Given the description of an element on the screen output the (x, y) to click on. 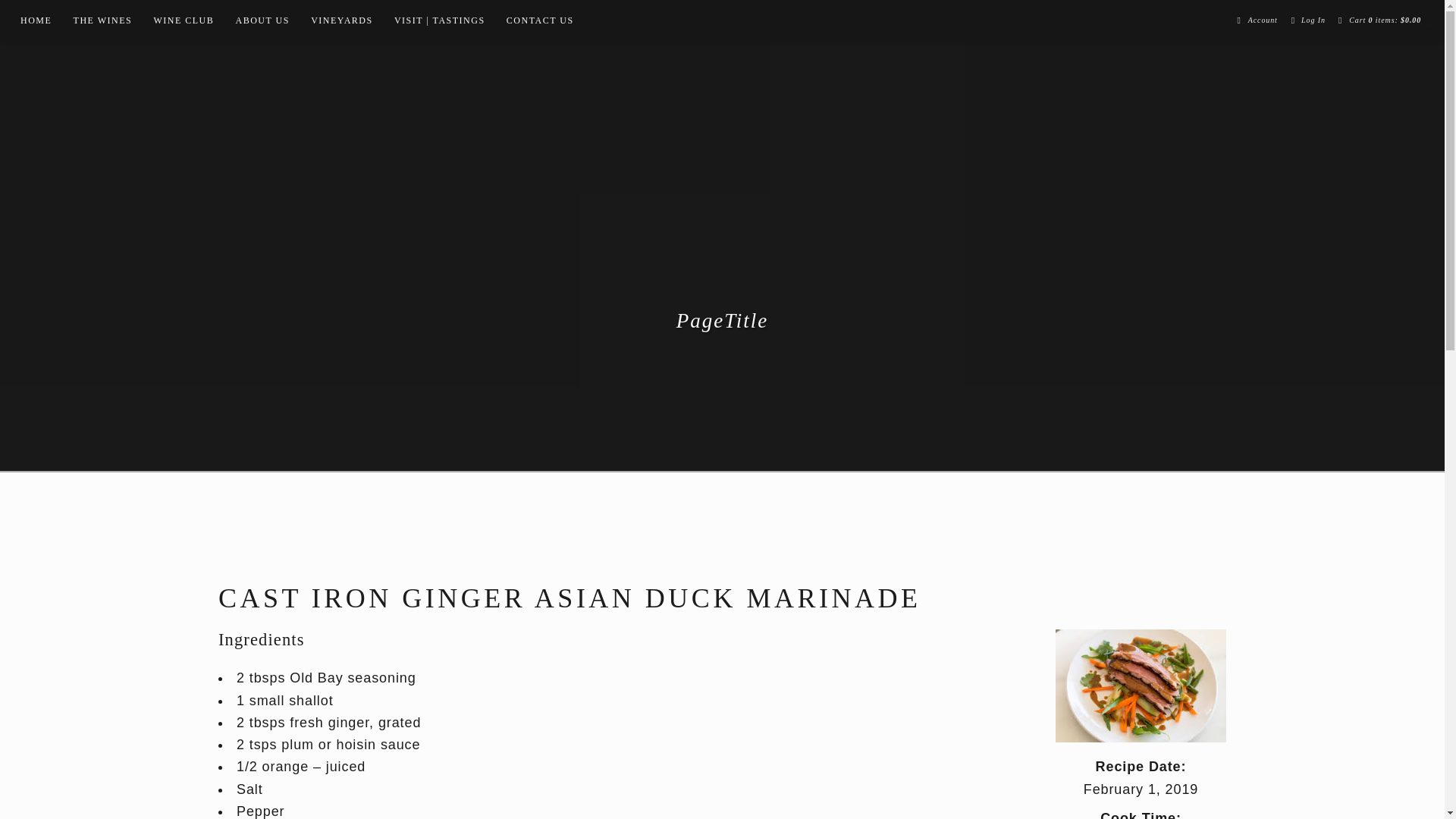
CONTACT US (540, 20)
HOME (36, 20)
THE WINES (102, 20)
WINE CLUB (183, 20)
Michael Mondavi Family Estate Home (722, 212)
VINEYARDS (341, 20)
ABOUT US (261, 20)
